Given the description of an element on the screen output the (x, y) to click on. 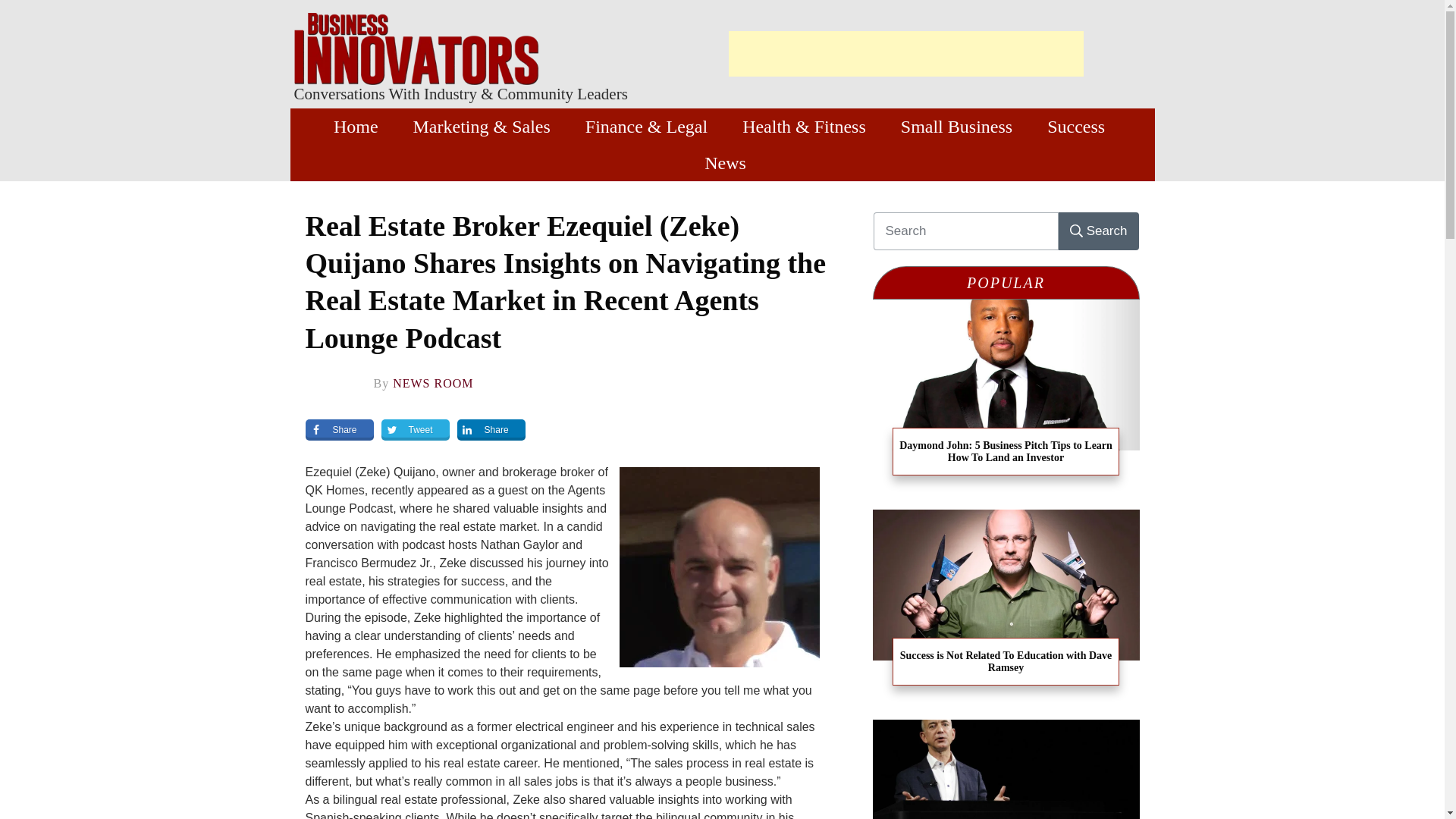
Advertisement (906, 53)
Small Business (956, 125)
NEWS ROOM (433, 382)
Success is Not Related To Education with Dave Ramsey (1005, 661)
Success is Not Related To Education with Dave Ramsey (1005, 661)
Share (491, 429)
Success is Not Related To Education with Dave Ramsey (1005, 606)
Success (1075, 125)
Share (338, 429)
Search (1098, 231)
News (724, 162)
Home (355, 125)
